Given the description of an element on the screen output the (x, y) to click on. 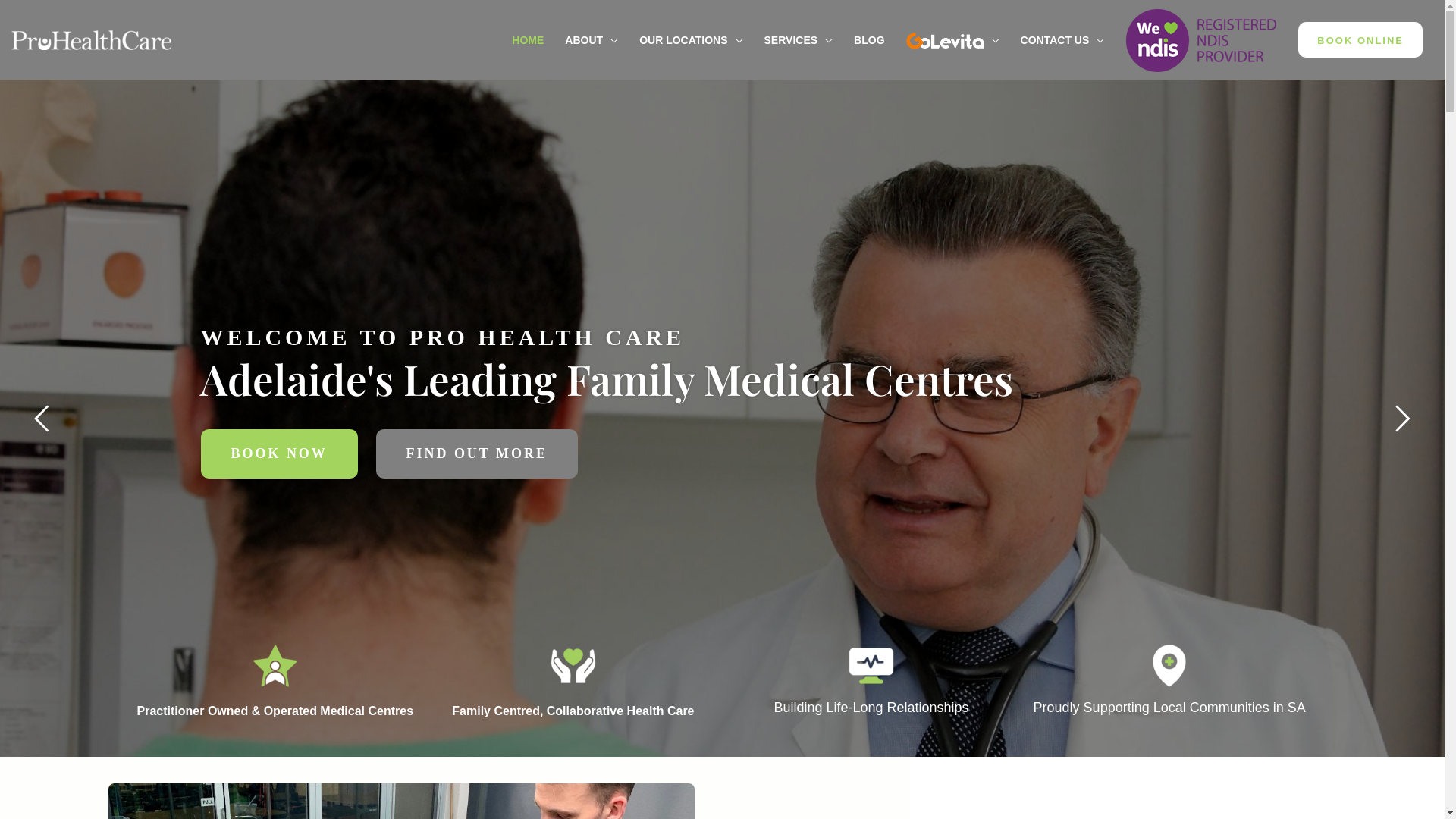
BOOK ONLINE Element type: text (1360, 38)
ABOUT Element type: text (591, 39)
Graphics_POD-4 Element type: hover (1169, 665)
Graphics_POD-2 Element type: hover (573, 665)
BOOK ONLINE Element type: text (1360, 39)
FIND OUT MORE Element type: text (476, 453)
CONTACT US Element type: text (1062, 39)
SERVICES Element type: text (798, 39)
BOOK NOW Element type: text (278, 453)
Graphics_POD-3 Element type: hover (871, 665)
BLOG Element type: text (868, 39)
OUR LOCATIONS Element type: text (690, 39)
Graphics_POD-1 Element type: hover (275, 665)
HOME Element type: text (527, 39)
